Given the description of an element on the screen output the (x, y) to click on. 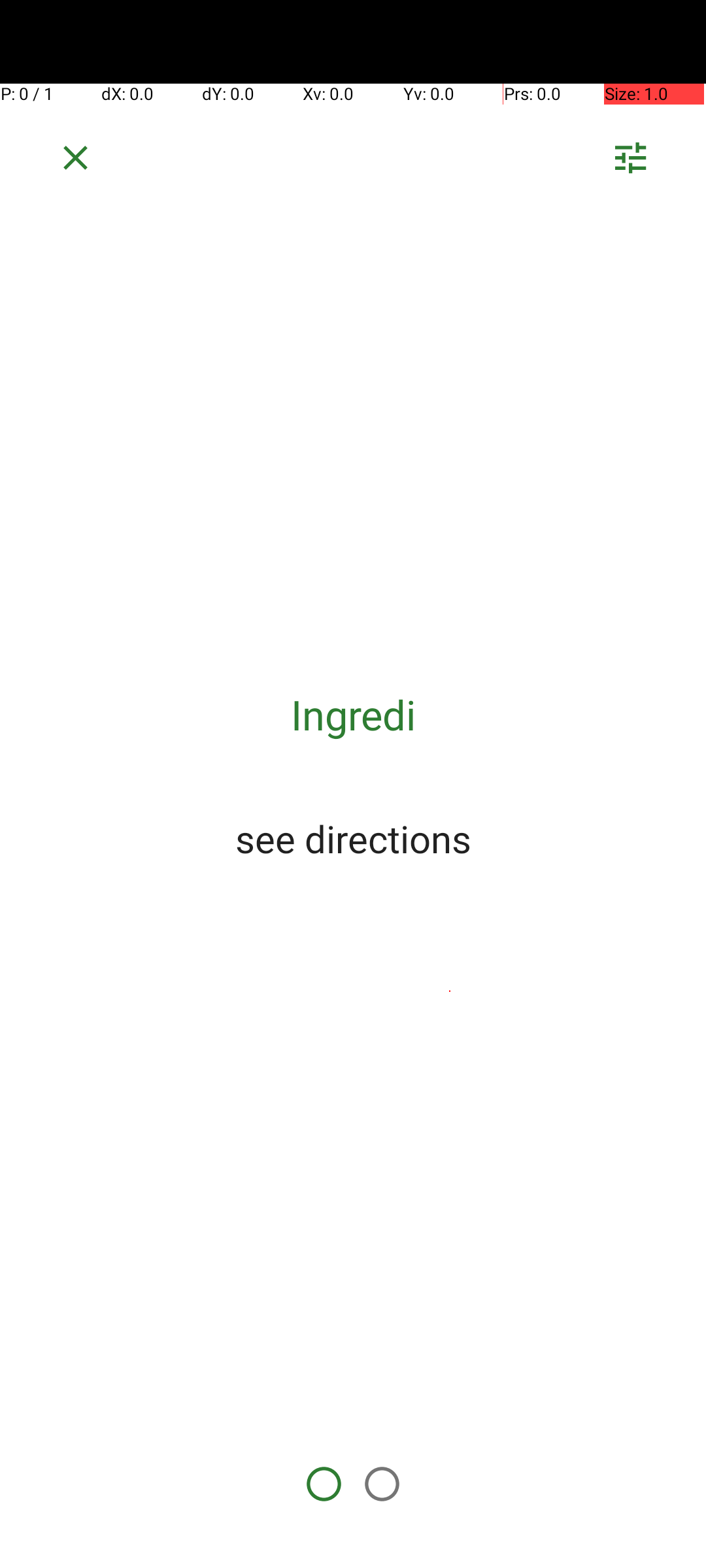
Adjust ingredients Element type: android.widget.Button (630, 161)
Ingredients Element type: android.widget.TextView (352, 714)
see directions Element type: android.widget.TextView (352, 838)
